Given the description of an element on the screen output the (x, y) to click on. 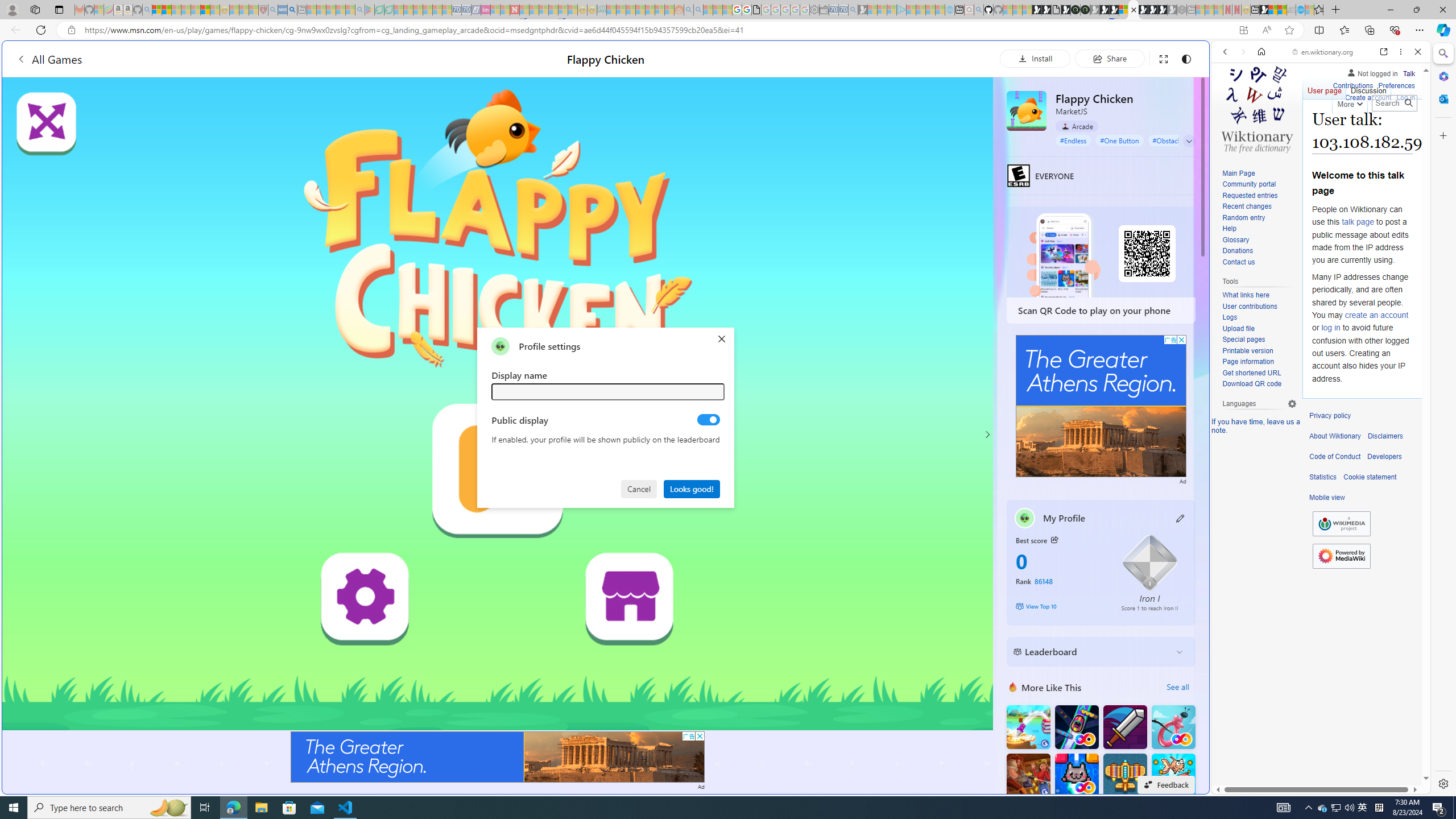
""'s avatar (500, 345)
AutomationID: footer-copyrightico (1341, 523)
All Games (49, 58)
Page information (1259, 361)
World - MSN (1272, 9)
Latest Politics News & Archive | Newsweek.com - Sleeping (514, 9)
Powered by MediaWiki (1341, 556)
